Given the description of an element on the screen output the (x, y) to click on. 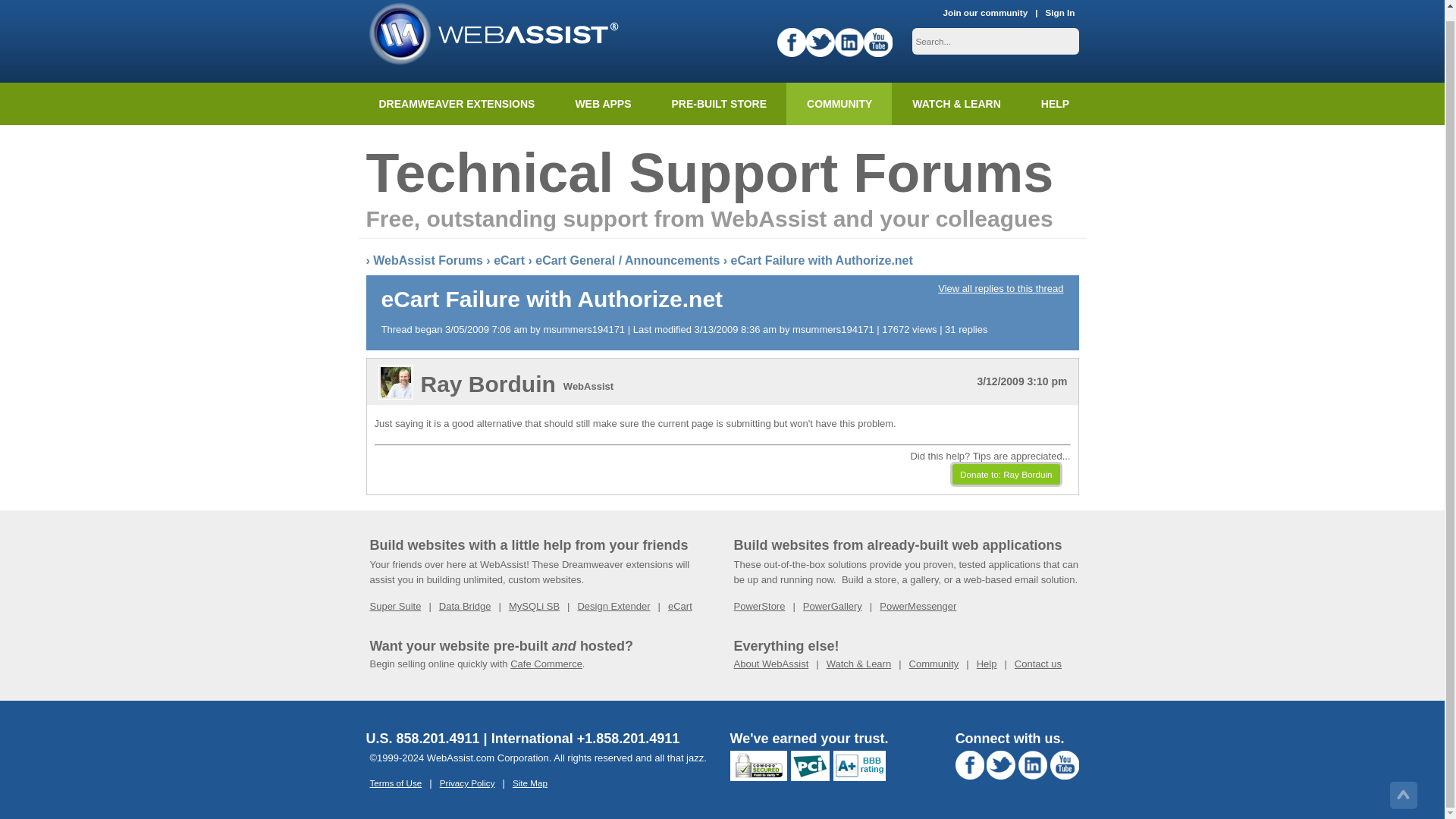
PRE-BUILT STORE (718, 103)
Sign In (1060, 12)
Search (22, 4)
Join our community (985, 12)
DREAMWEAVER EXTENSIONS (456, 103)
eCart (508, 259)
HELP (1054, 103)
WebAssist Forums (427, 259)
COMMUNITY (838, 103)
Donate to: Ray Borduin (1006, 473)
WEB APPS (602, 103)
